Given the description of an element on the screen output the (x, y) to click on. 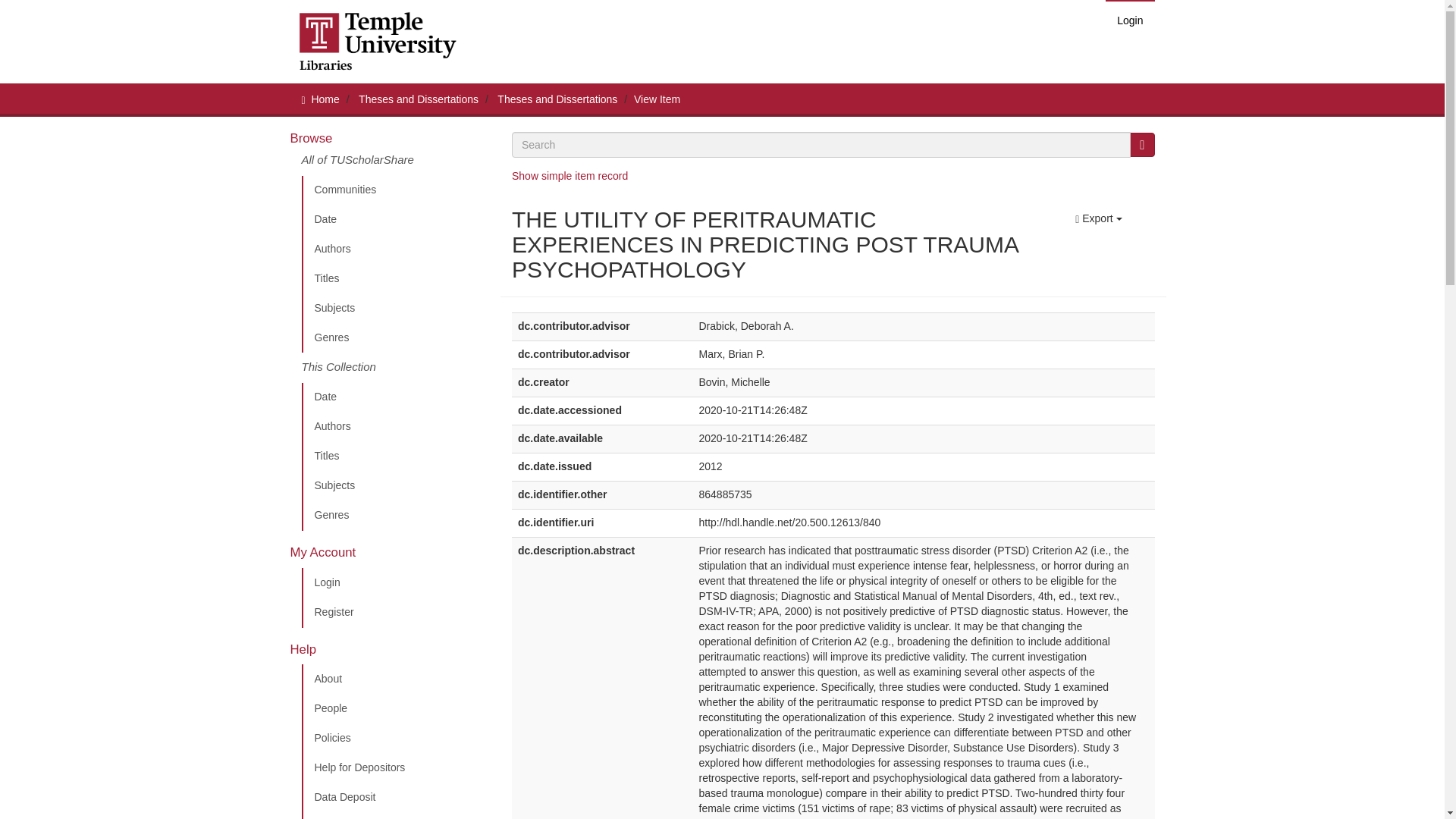
Subjects (395, 308)
Genres (395, 515)
Authors (395, 426)
Login (1129, 19)
Home (325, 99)
FAQs (395, 815)
Policies (395, 738)
Subjects (395, 485)
Login (395, 583)
Date (395, 219)
